Given the description of an element on the screen output the (x, y) to click on. 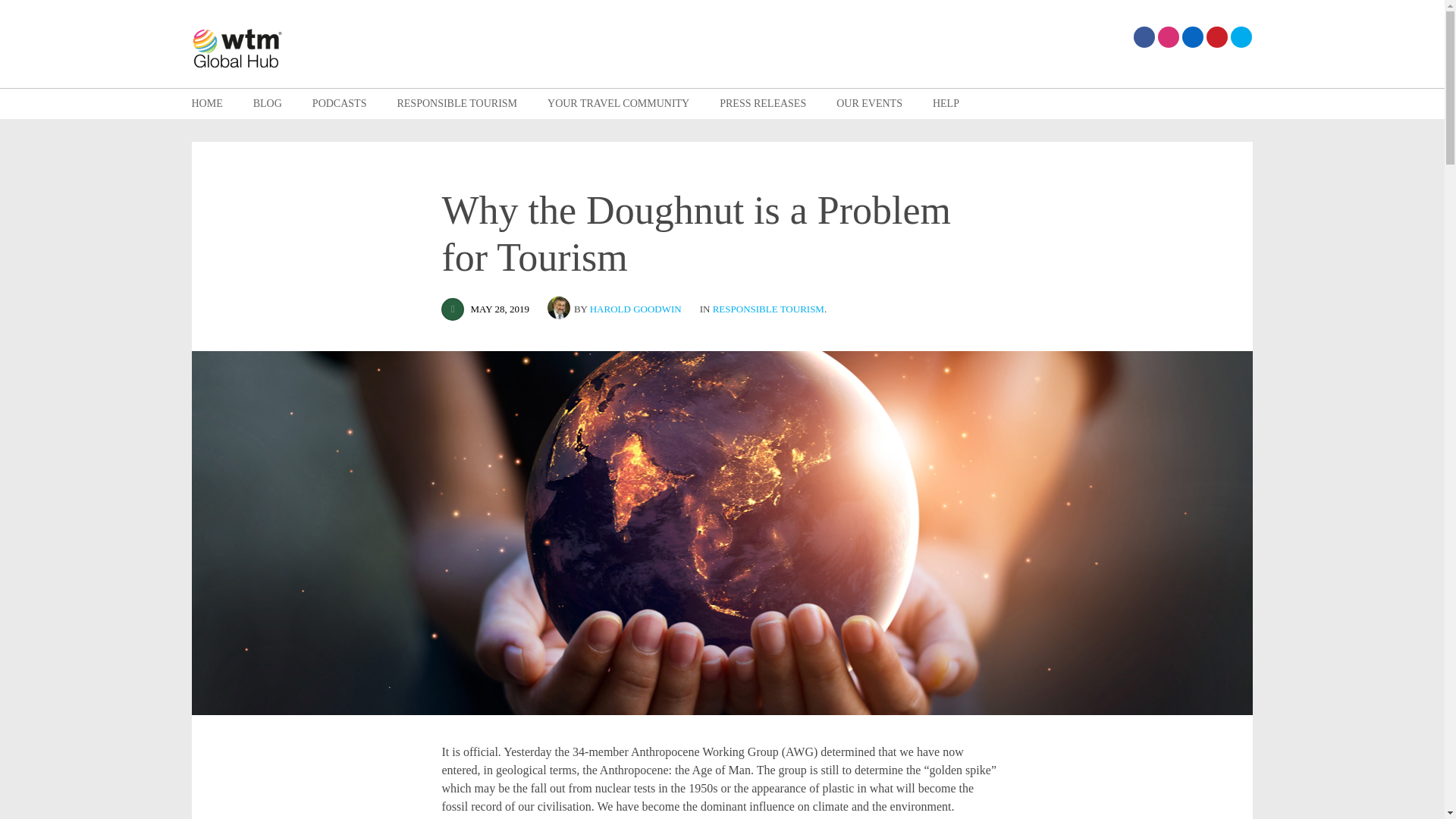
YOUR TRAVEL COMMUNITY (617, 103)
Linkedin (1191, 36)
Facebook (1143, 36)
Pinterest (1216, 36)
WTM Global Hub (236, 49)
BLOG (267, 103)
View all posts by Harold Goodwin (635, 308)
RESPONSIBLE TOURISM (456, 103)
